Given the description of an element on the screen output the (x, y) to click on. 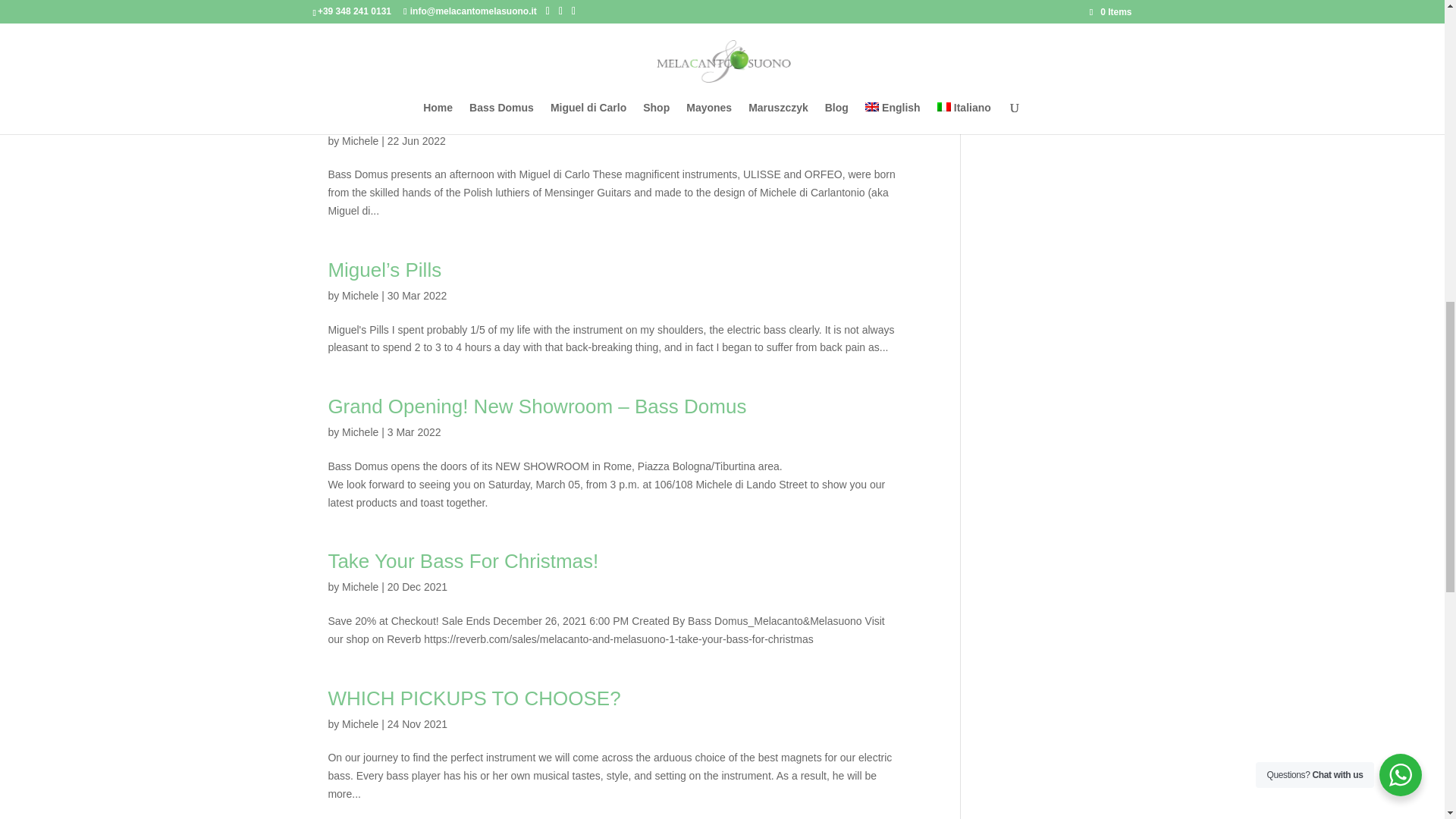
Posts by Michele (360, 141)
An afternoon with Miguel di Carlo! (475, 115)
Posts by Michele (360, 295)
Michele (360, 431)
Michele (360, 295)
Posts by Michele (360, 586)
Take Your Bass For Christmas! (462, 560)
Posts by Michele (360, 431)
Posts by Michele (360, 724)
Michele (360, 141)
